Given the description of an element on the screen output the (x, y) to click on. 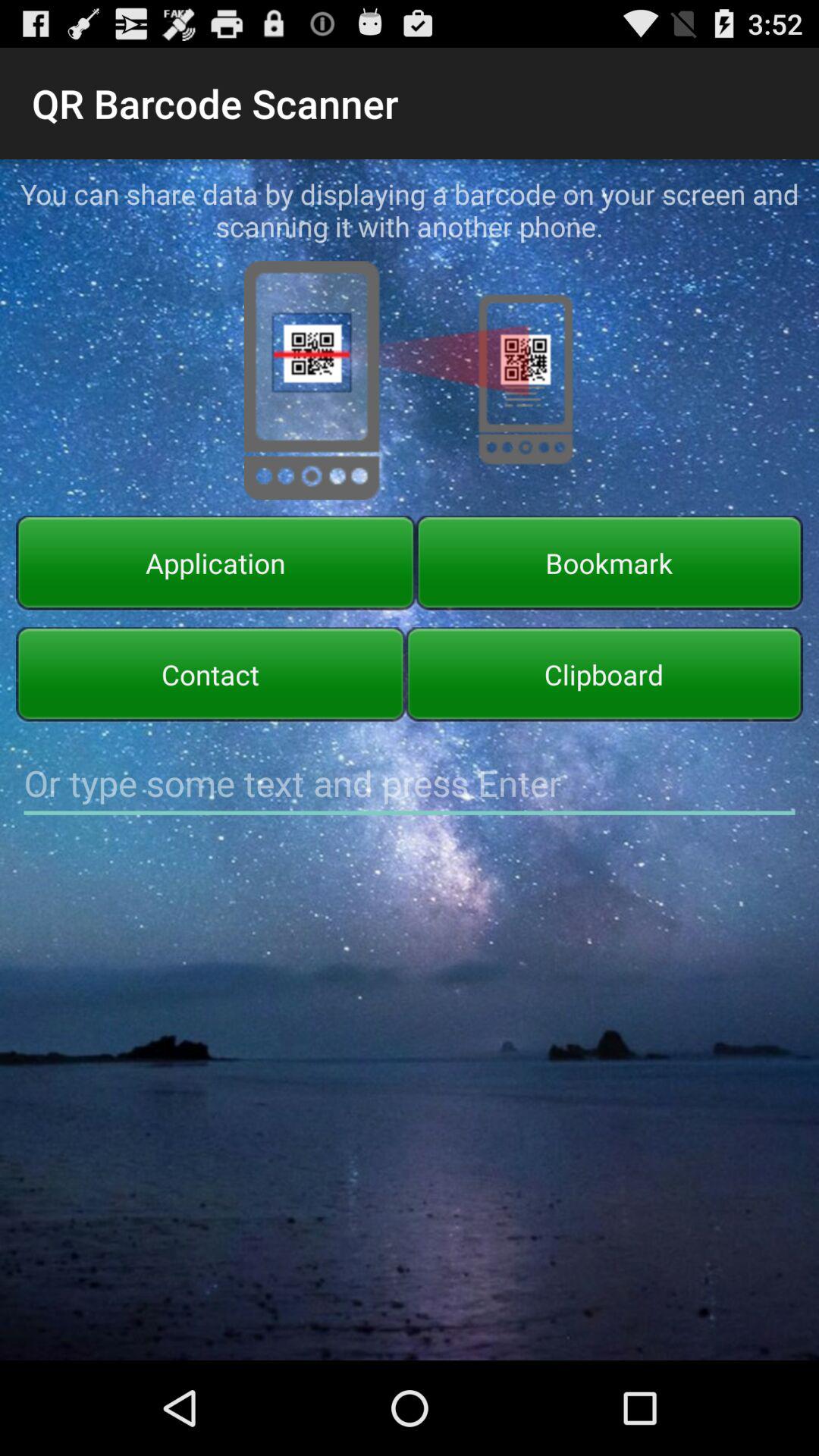
enter written input (409, 783)
